Given the description of an element on the screen output the (x, y) to click on. 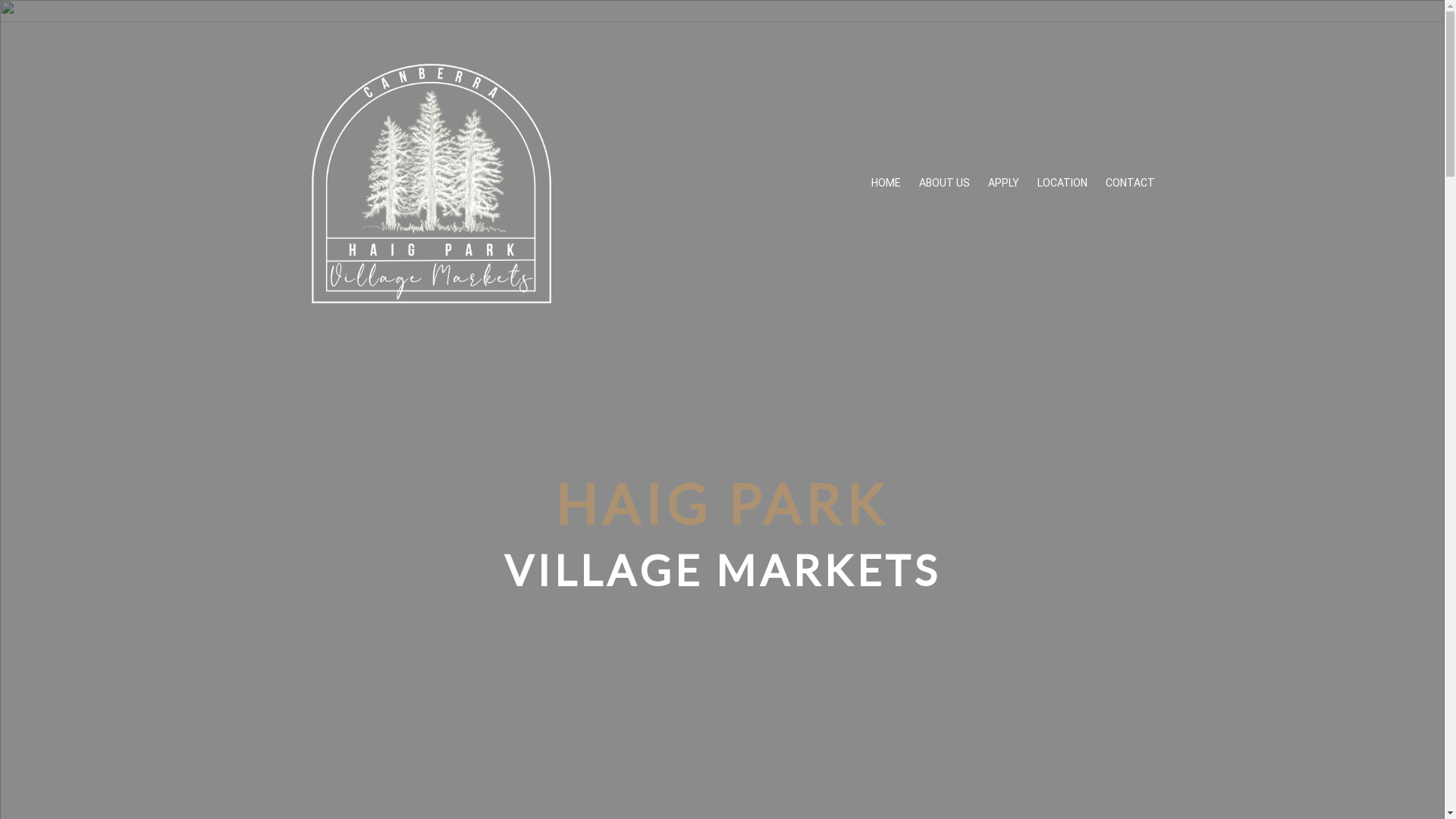
HOME Element type: text (885, 183)
ABOUT US Element type: text (944, 183)
CONTACT Element type: text (1129, 183)
APPLY Element type: text (1002, 183)
LOCATION Element type: text (1062, 183)
